Given the description of an element on the screen output the (x, y) to click on. 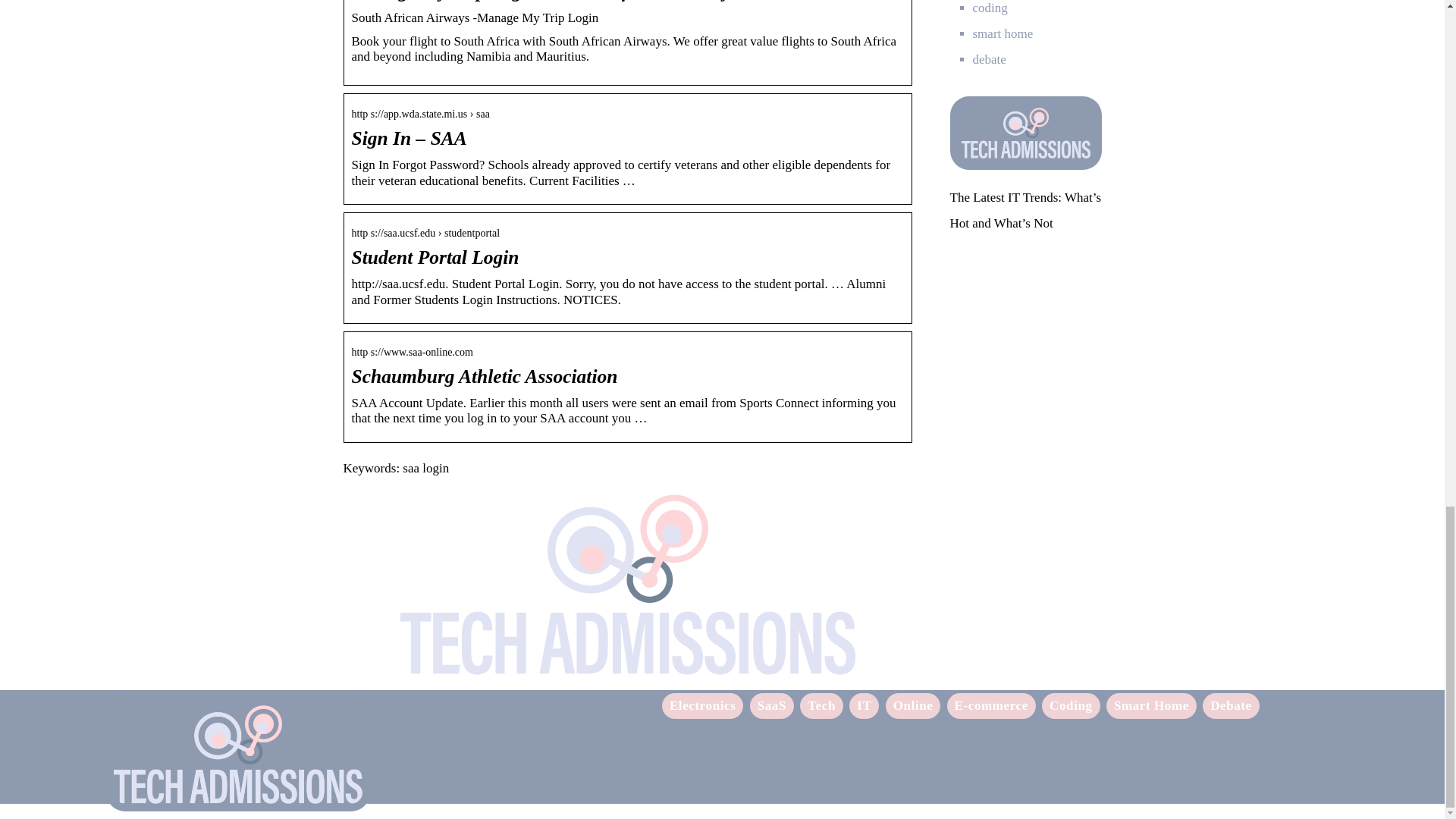
smart home (1002, 33)
Coding (1071, 705)
Electronics (702, 705)
IT (863, 705)
Online (913, 705)
coding (989, 7)
Tech (821, 705)
E-commerce (991, 705)
SaaS (771, 705)
debate (989, 59)
